Given the description of an element on the screen output the (x, y) to click on. 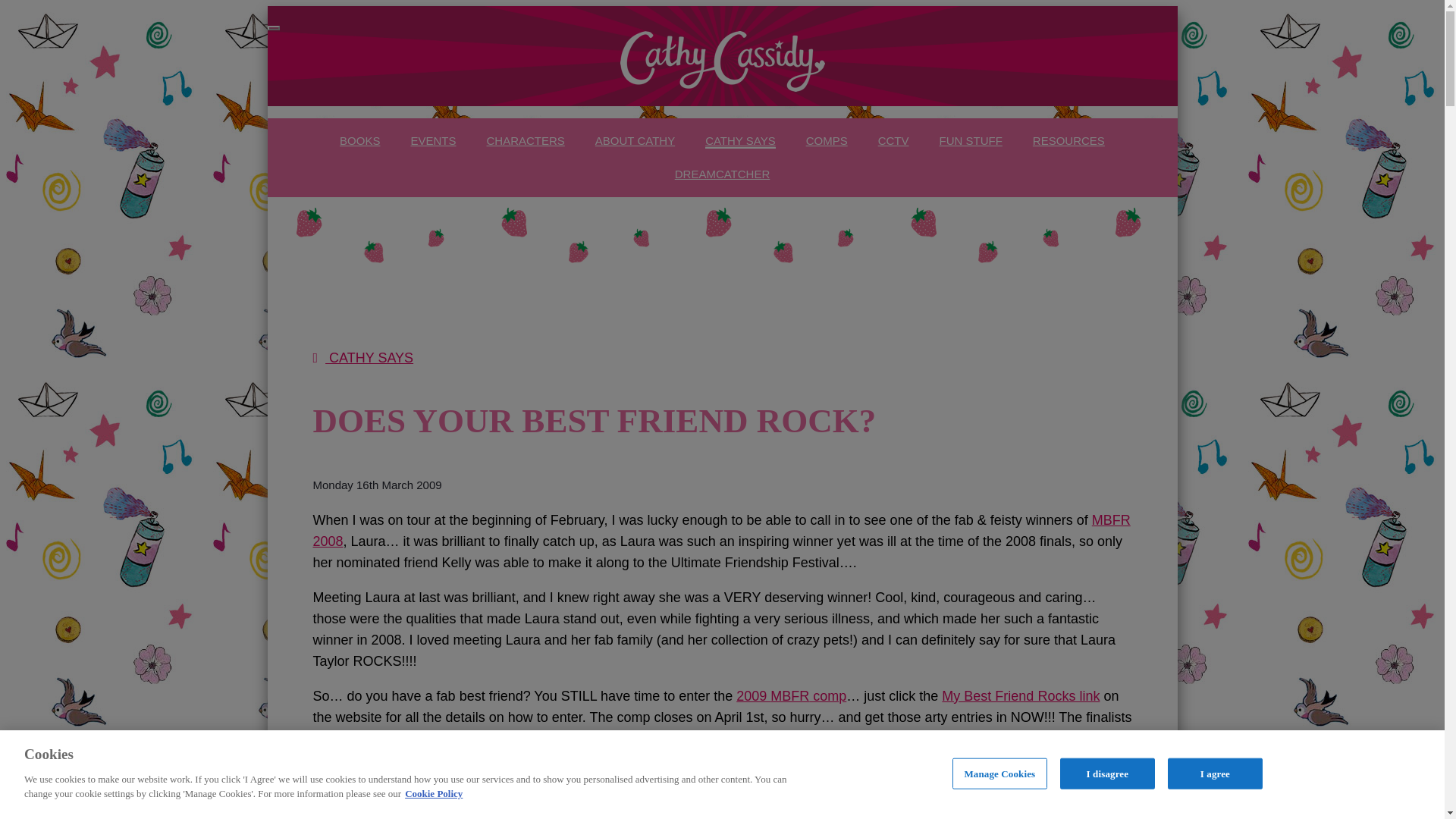
CHARACTERS (525, 141)
CCTV (892, 141)
BOOKS (359, 141)
COMPS (826, 141)
CATHY SAYS (363, 357)
DREAMCATCHER (722, 174)
MBFR 2008 (721, 530)
ABOUT CATHY (635, 141)
CATHY SAYS (740, 141)
2009 MBFR comp (790, 695)
Toggle navigation (272, 27)
RESOURCES (1068, 141)
My Best Friend Rocks link (1020, 695)
FUN STUFF (971, 141)
EVENTS (432, 141)
